Given the description of an element on the screen output the (x, y) to click on. 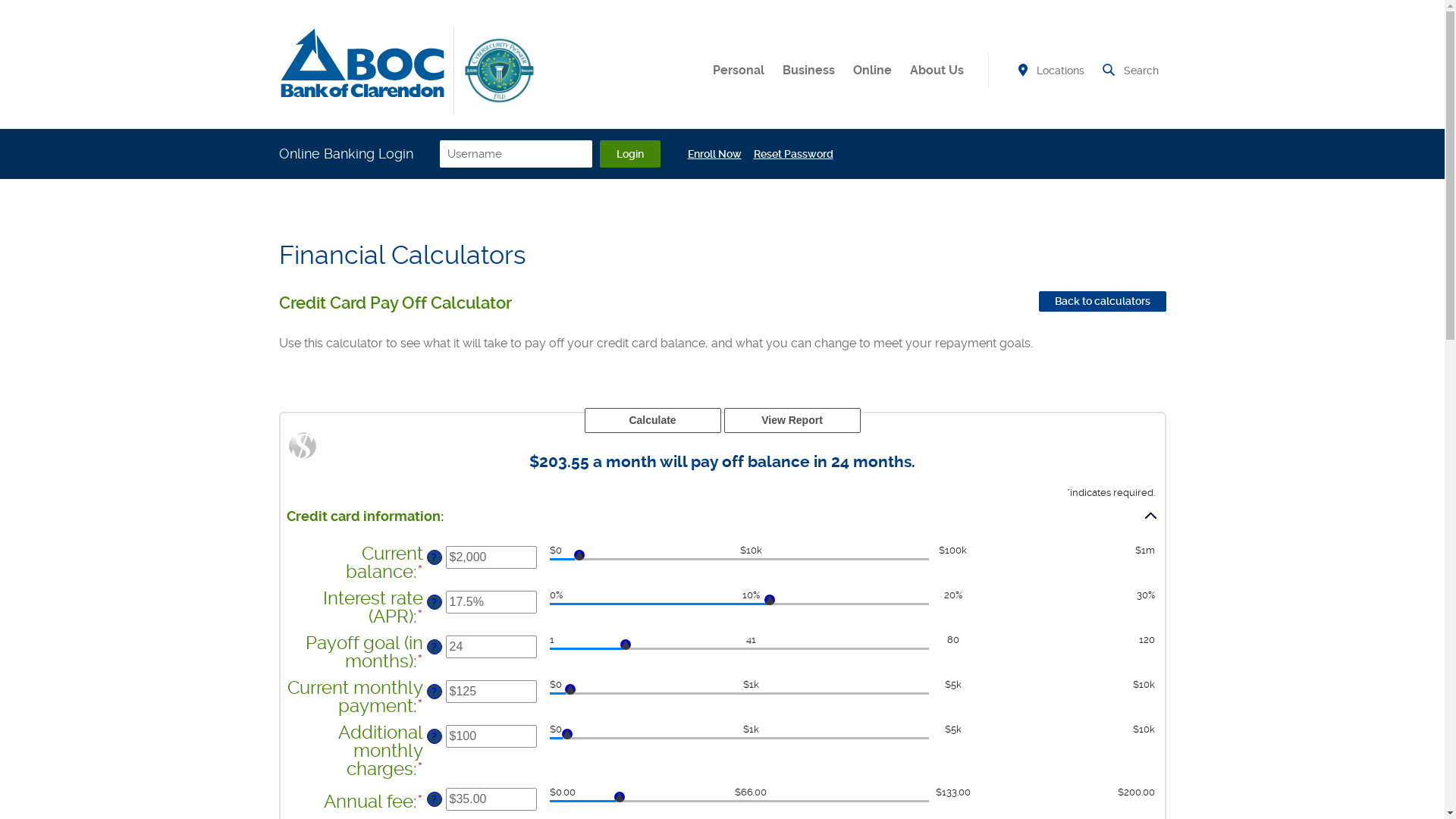
Additional monthly charges slider Element type: hover (738, 739)
Enroll Now
(Opens in a new Window) Element type: text (713, 153)
Reset Password
(Opens in a new Window) Element type: text (793, 153)
Payoff goal (in months) slider Element type: hover (738, 650)
Current balance slider Element type: hover (738, 560)
? Element type: text (433, 735)
Current monthly payment slider Element type: hover (738, 695)
Login Element type: text (629, 153)
Find Branch and ATM
Locations Element type: text (1049, 70)
Open Site
Search Element type: text (1129, 70)
? Element type: text (433, 601)
? Element type: text (433, 646)
Back to calculators Element type: text (1102, 301)
? Element type: text (433, 691)
? Element type: text (433, 556)
Interest rate (APR) slider Element type: hover (738, 605)
Bank of Clarendon, Manning, South Carolina Element type: hover (362, 62)
? Element type: text (433, 798)
Annual fee slider Element type: hover (738, 802)
